Given the description of an element on the screen output the (x, y) to click on. 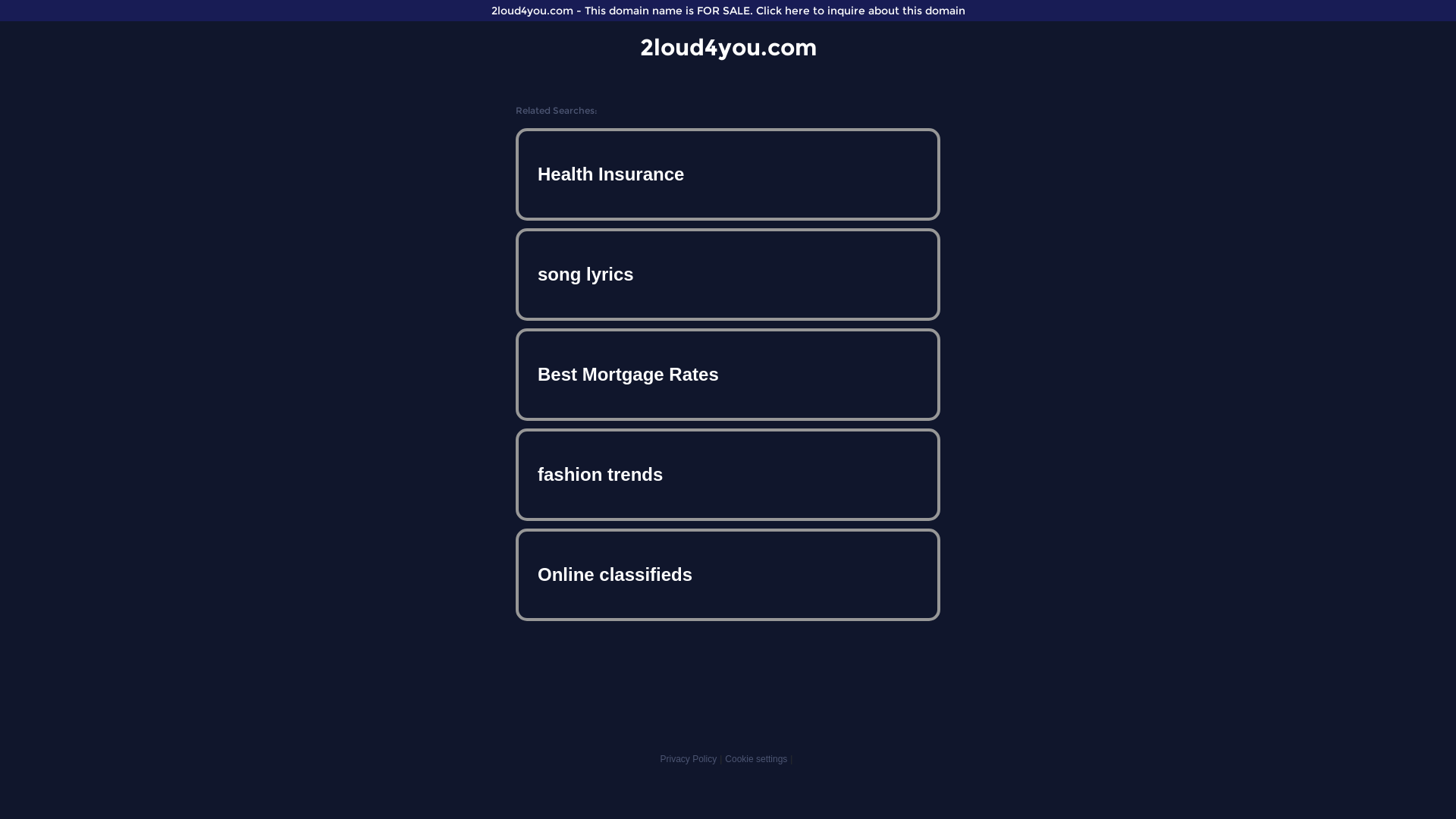
Best Mortgage Rates Element type: text (727, 374)
Online classifieds Element type: text (727, 574)
Privacy Policy Element type: text (687, 758)
song lyrics Element type: text (727, 274)
Health Insurance Element type: text (727, 174)
Cookie settings Element type: text (755, 758)
2loud4you.com Element type: text (728, 47)
fashion trends Element type: text (727, 474)
